Given the description of an element on the screen output the (x, y) to click on. 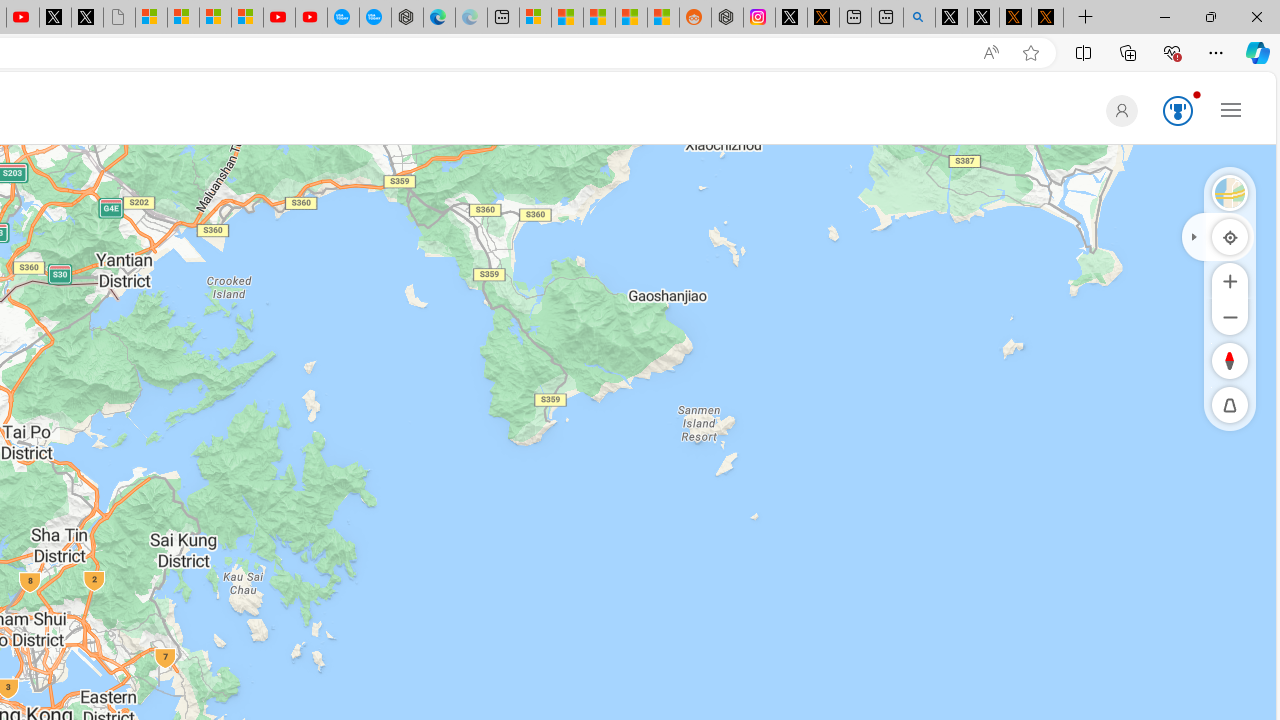
Rotate Right (1210, 360)
Select Style (1230, 192)
Road (1230, 192)
Bird's eye (1230, 192)
Eugene (1117, 110)
Expand/Collapse Geochain (1193, 236)
